Given the description of an element on the screen output the (x, y) to click on. 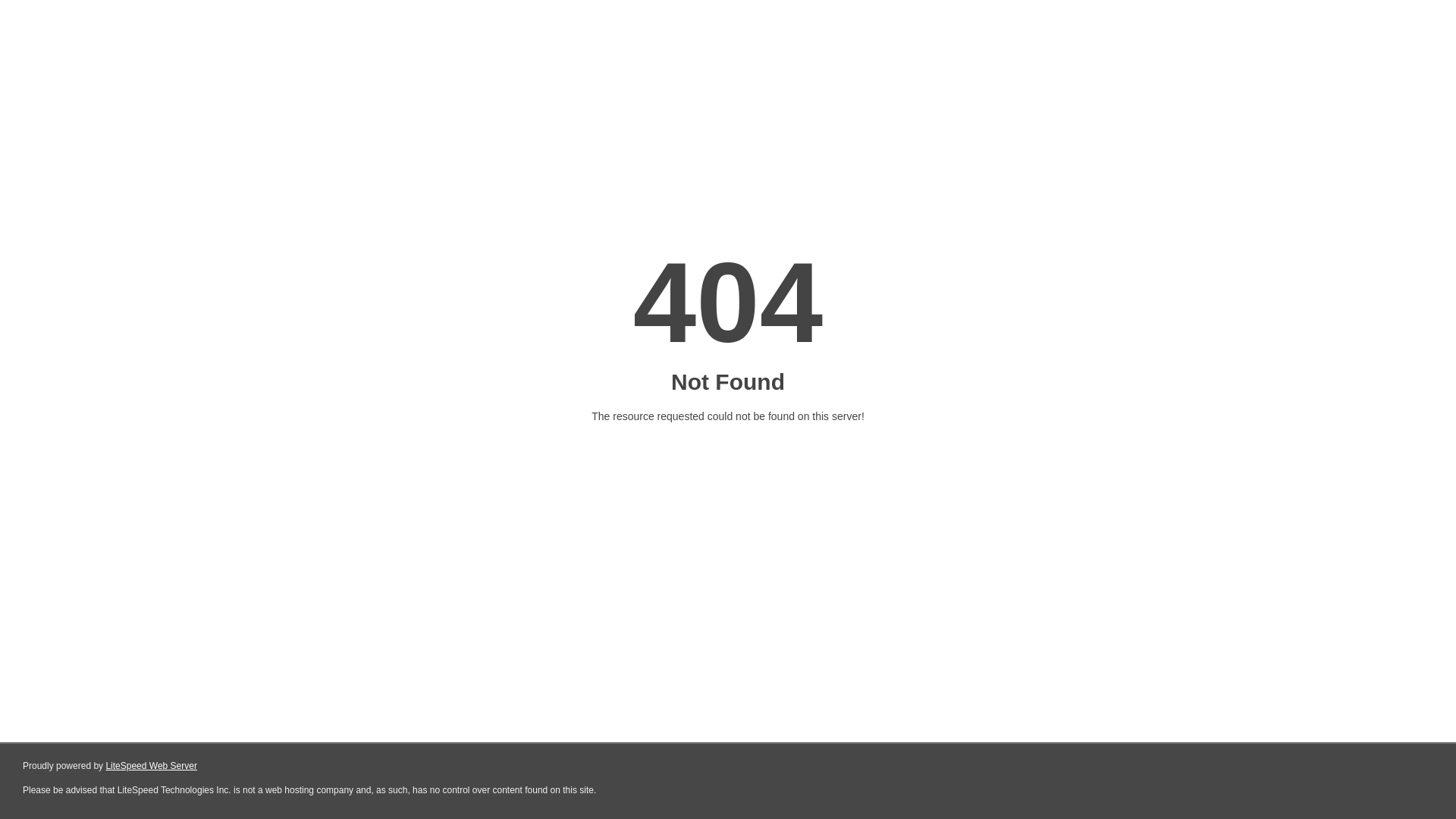
LiteSpeed Web Server Element type: text (151, 765)
